Given the description of an element on the screen output the (x, y) to click on. 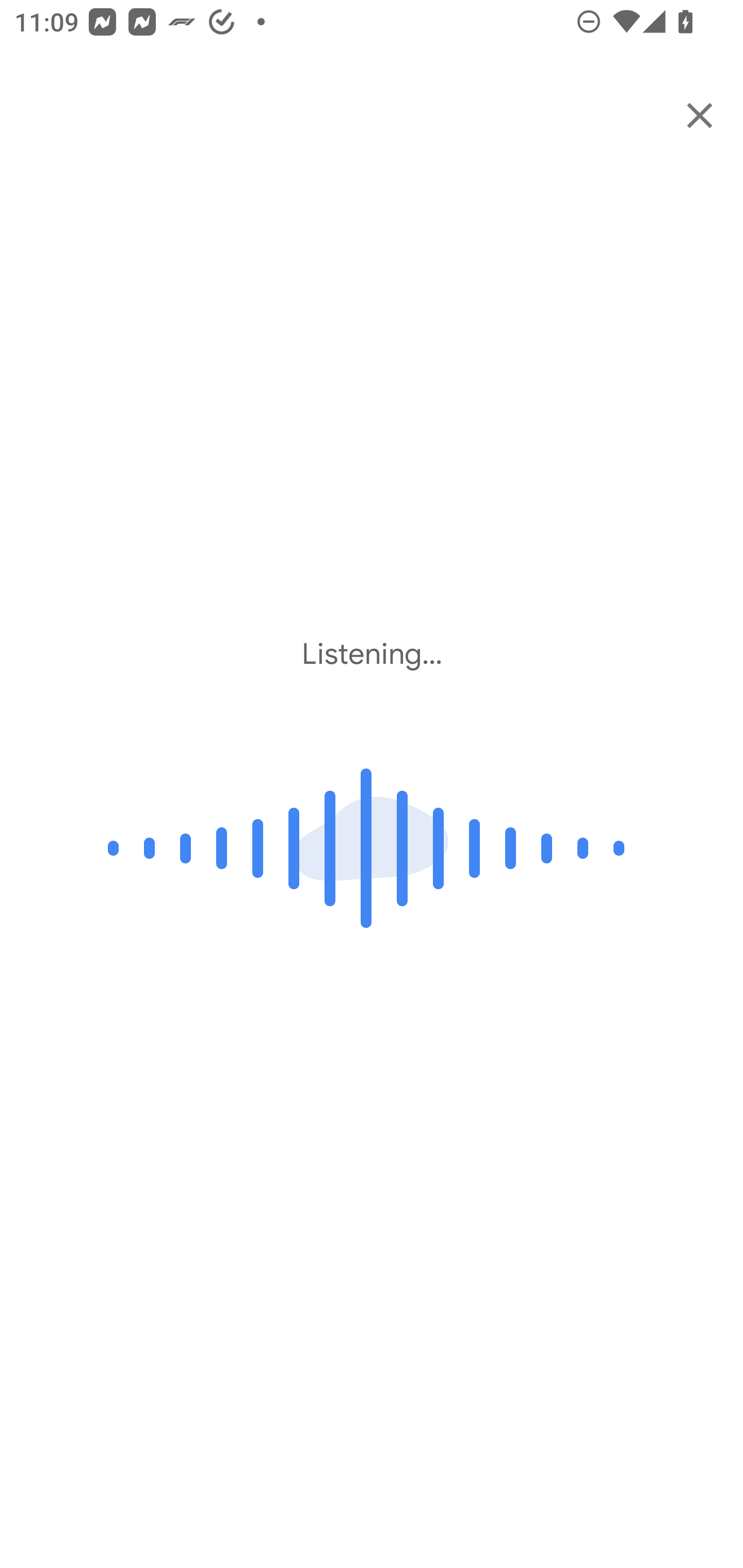
Close (699, 115)
